Given the description of an element on the screen output the (x, y) to click on. 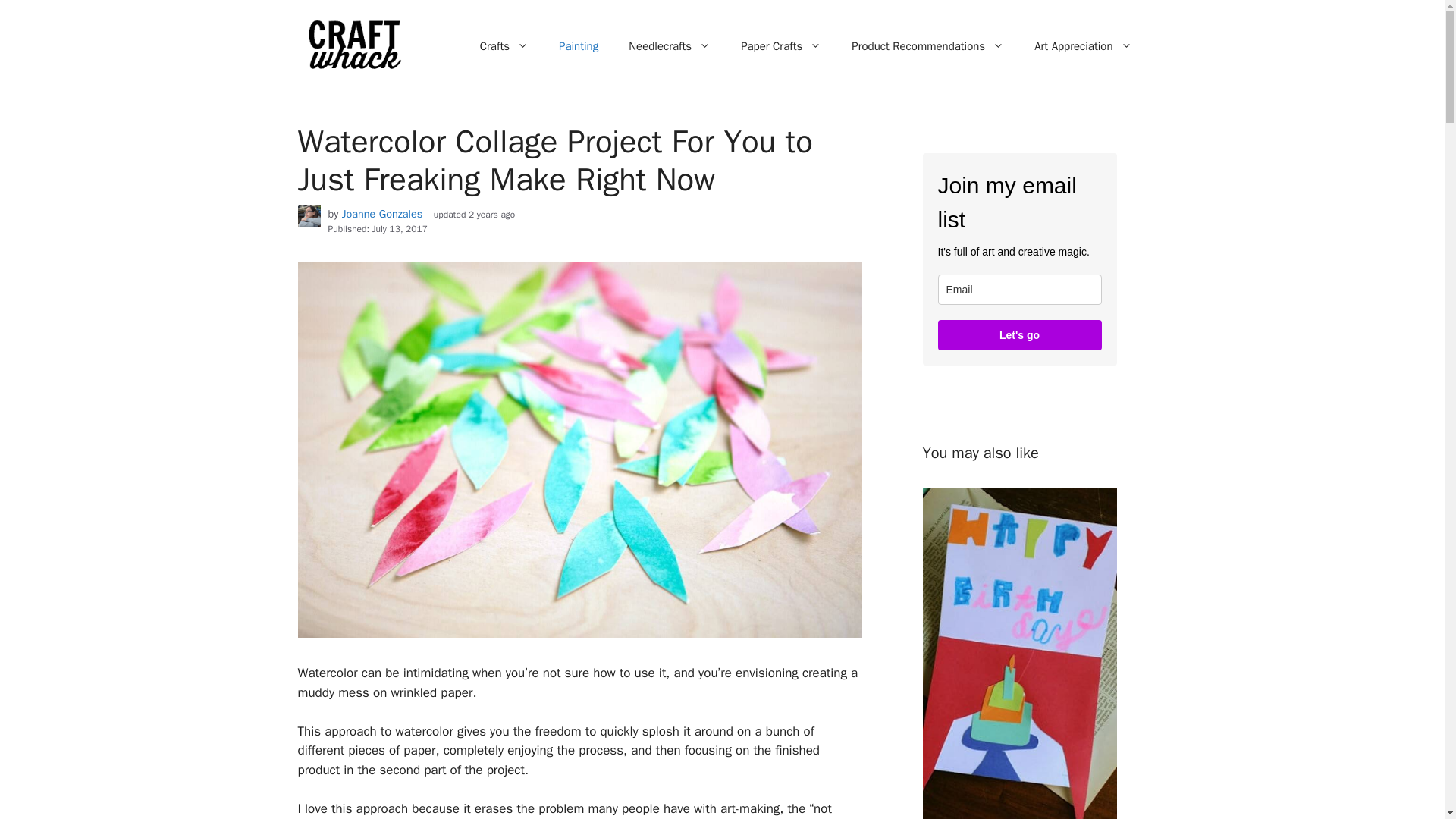
Painting (577, 45)
Needlecrafts (668, 45)
Crafts (503, 45)
View all posts by Joanne Gonzales (382, 213)
Paper Crafts (780, 45)
